Given the description of an element on the screen output the (x, y) to click on. 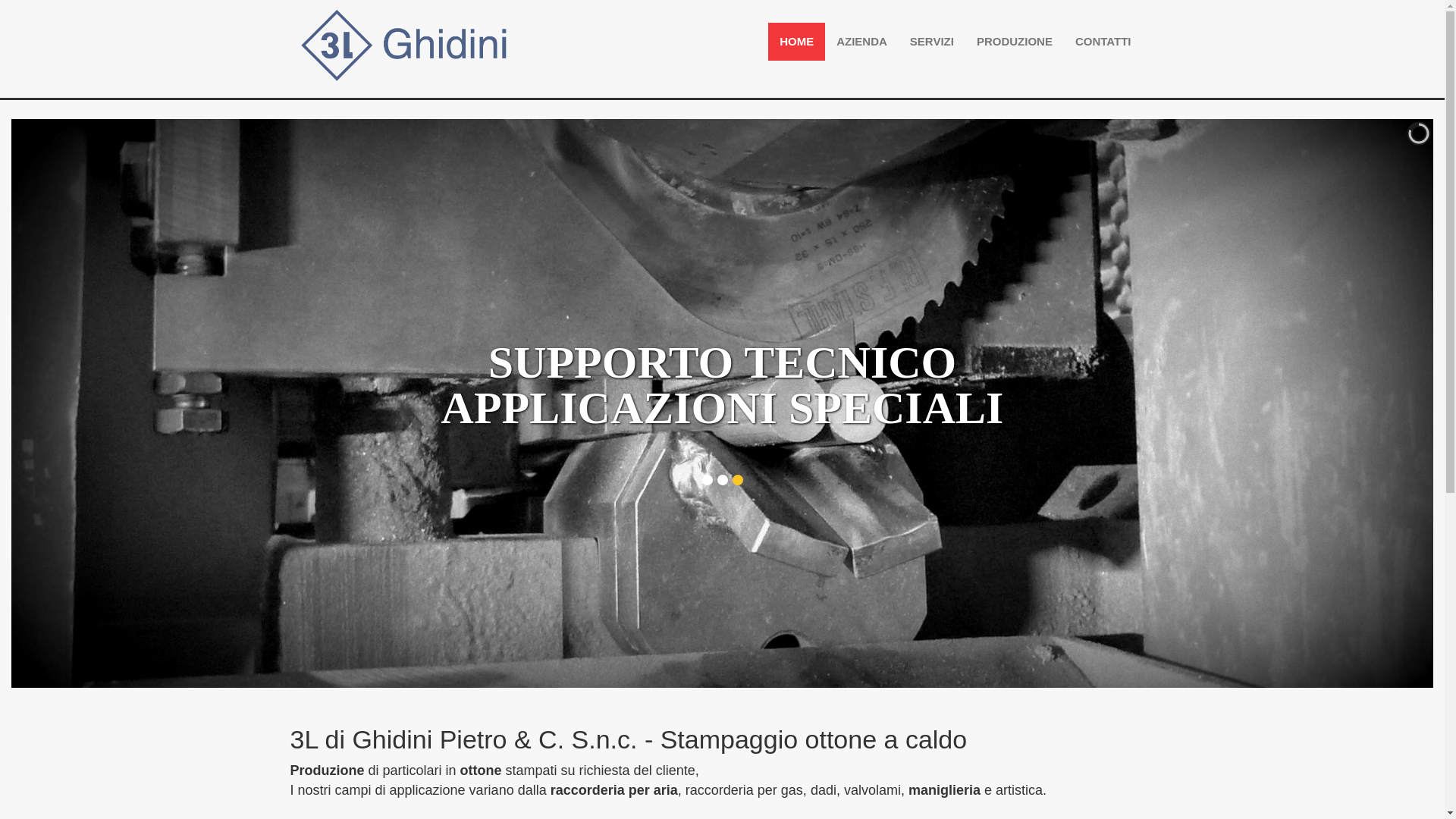
PRODUZIONE Element type: text (1014, 41)
CONTATTI Element type: text (1102, 41)
SERVIZI Element type: text (931, 41)
HOME Element type: text (796, 41)
AZIENDA Element type: text (861, 41)
